Given the description of an element on the screen output the (x, y) to click on. 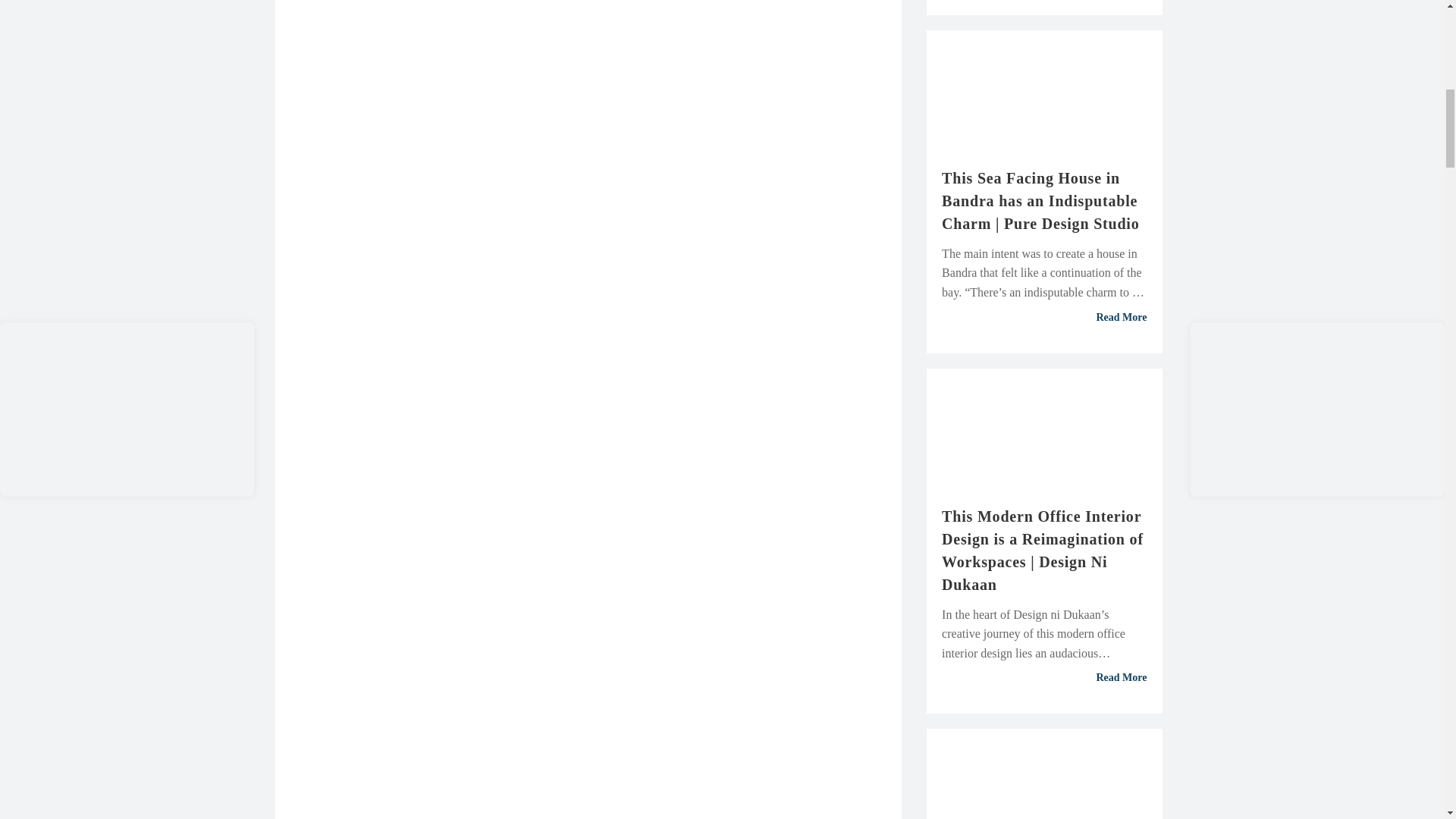
Read More (1044, 317)
Read More (1044, 677)
